Given the description of an element on the screen output the (x, y) to click on. 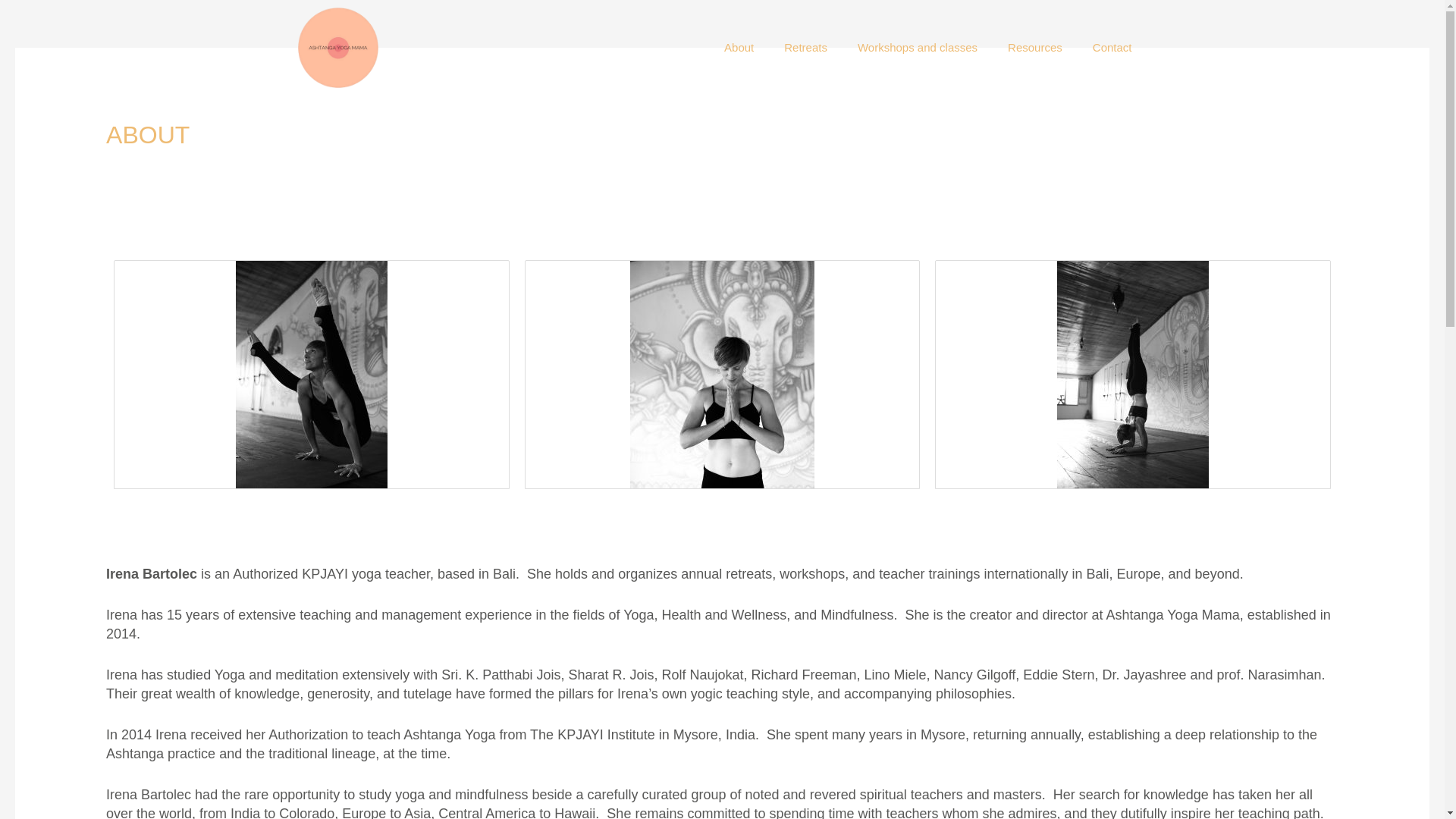
Workshops and classes (917, 47)
Retreats (805, 47)
Resources (1034, 47)
Contact (1112, 47)
About (738, 47)
